Given the description of an element on the screen output the (x, y) to click on. 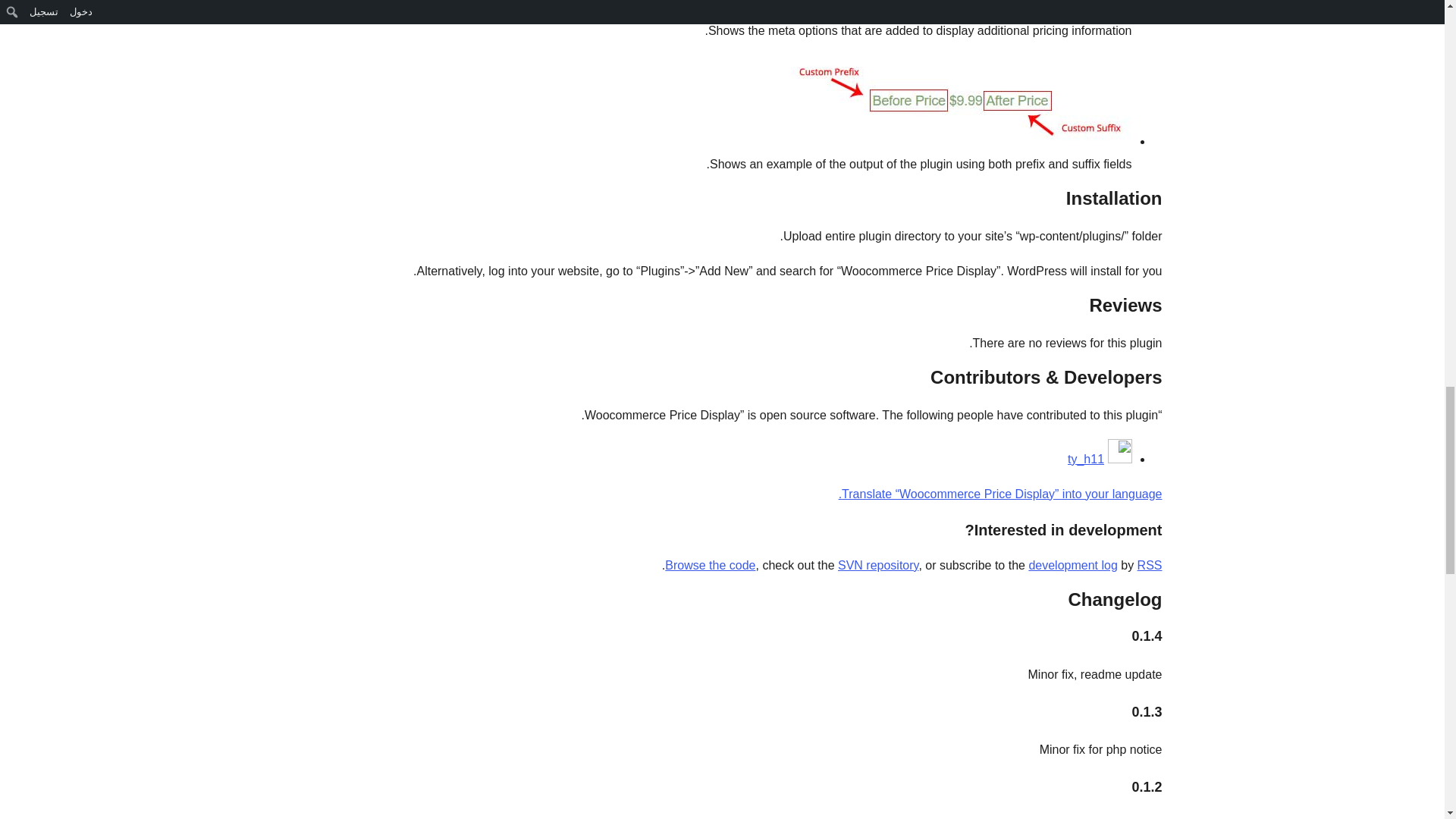
SVN repository (878, 564)
RSS (1149, 564)
development log (1071, 564)
Browse the code (710, 564)
